Given the description of an element on the screen output the (x, y) to click on. 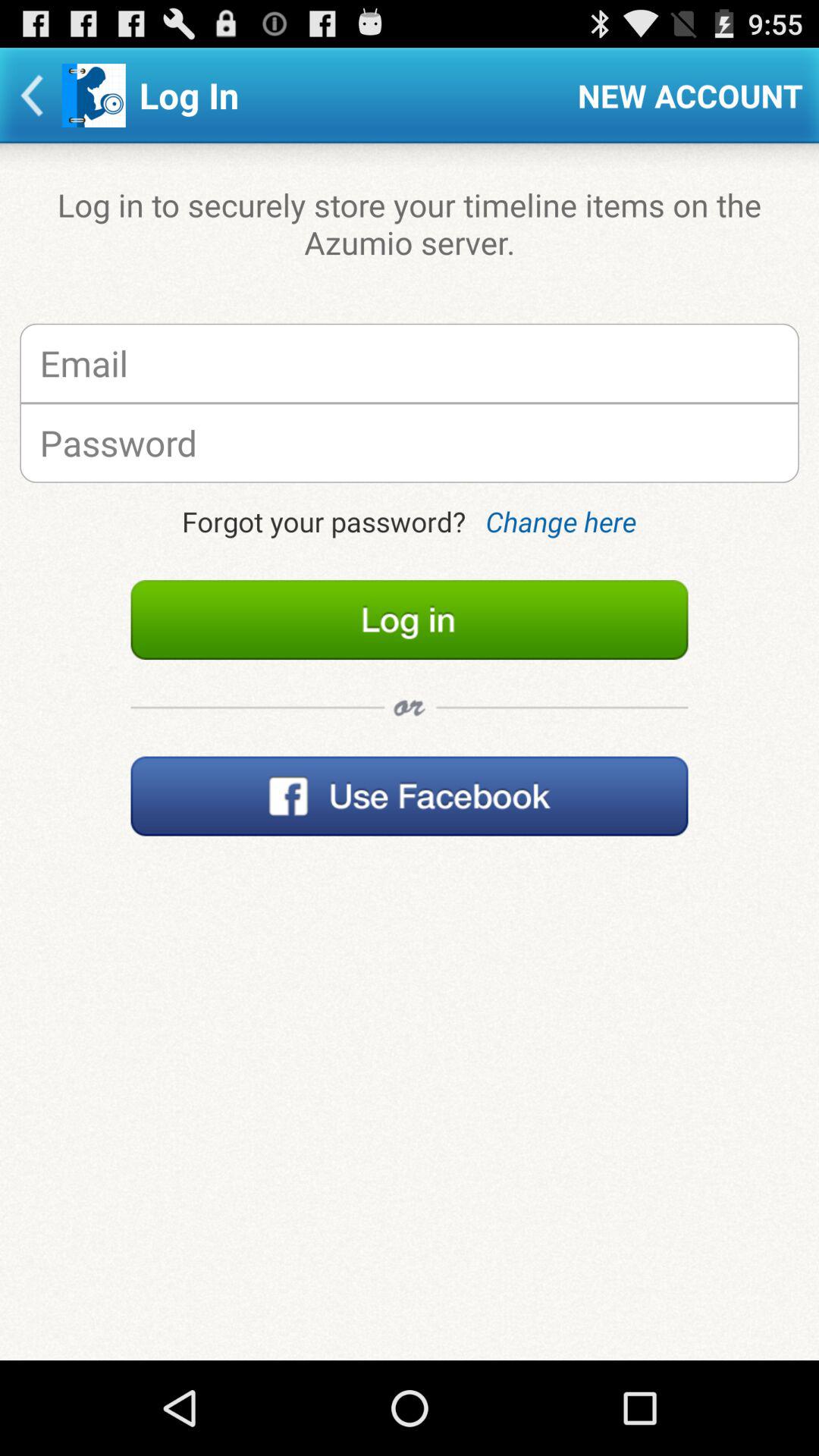
press icon to the right of the log in icon (690, 95)
